Given the description of an element on the screen output the (x, y) to click on. 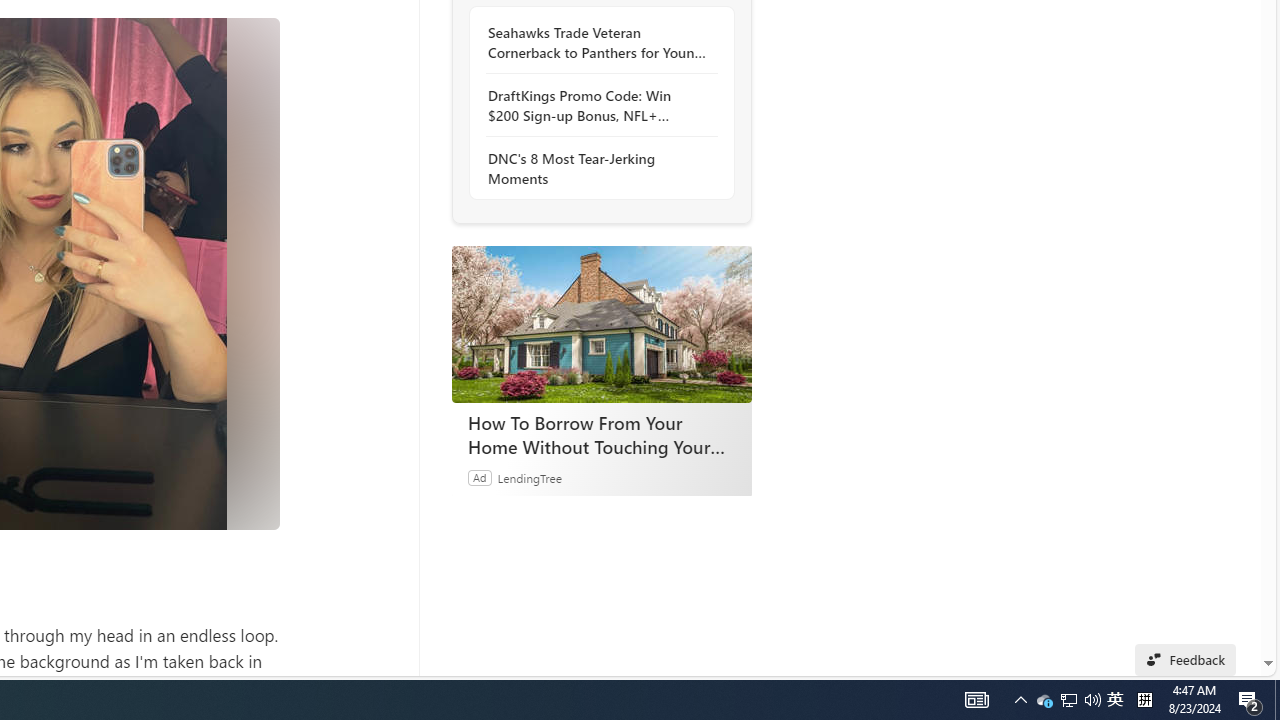
DNC's 8 Most Tear-Jerking Moments (596, 168)
